Given the description of an element on the screen output the (x, y) to click on. 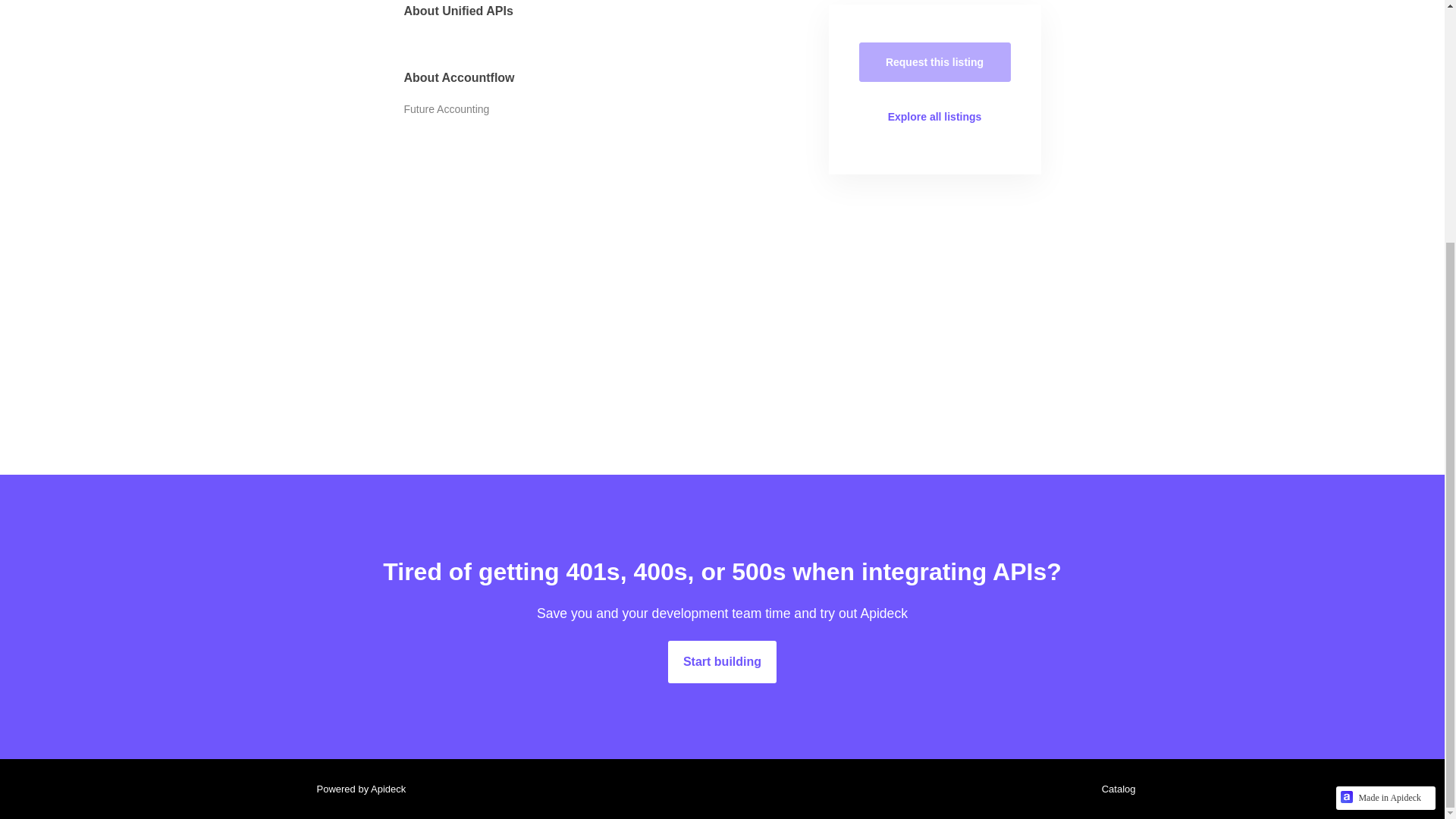
Start building (722, 661)
Powered by Apideck (356, 789)
Request this listing (934, 61)
Explore all listings (934, 116)
Catalog (1115, 789)
